Given the description of an element on the screen output the (x, y) to click on. 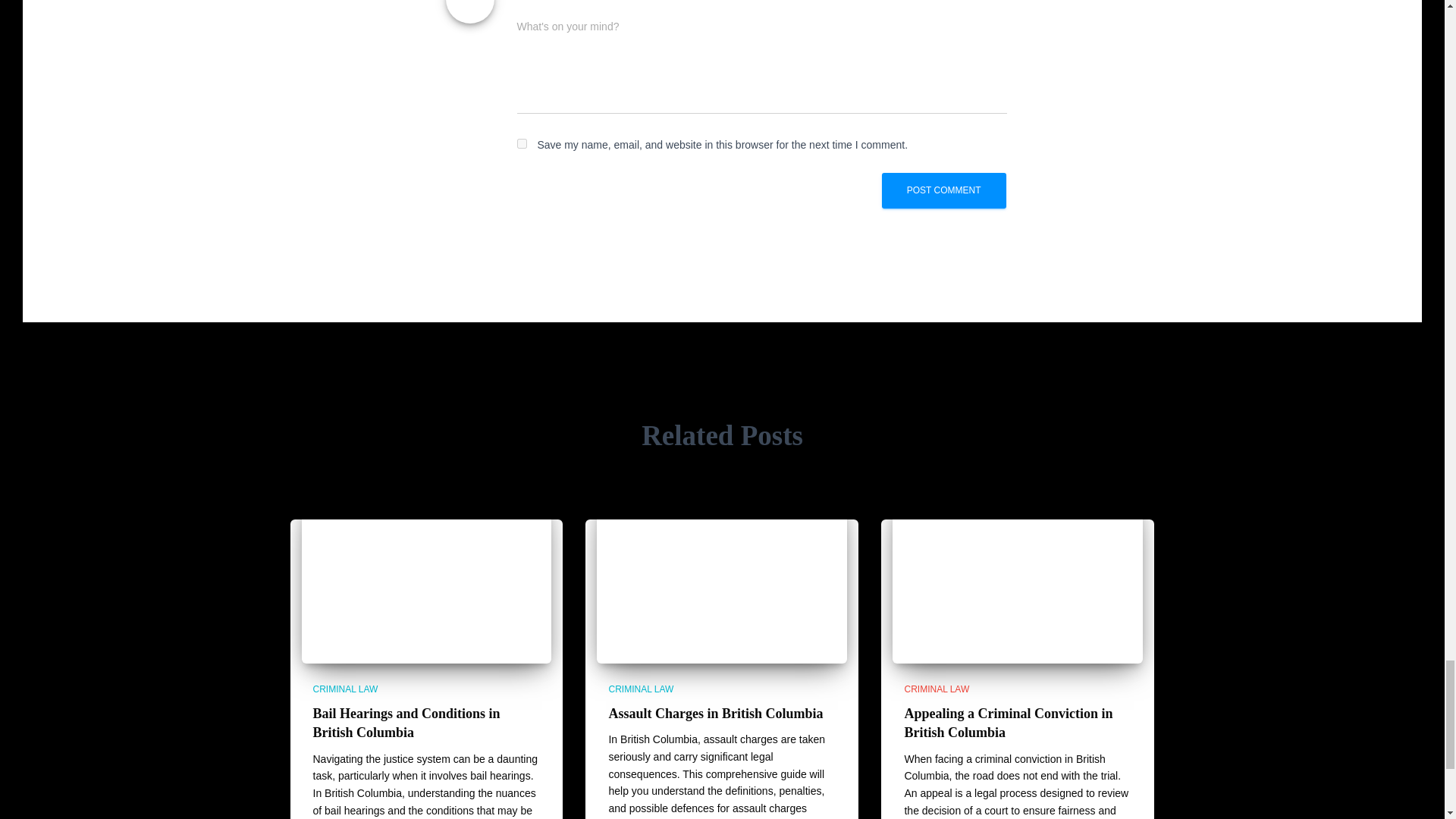
Post Comment (944, 190)
yes (521, 143)
